Given the description of an element on the screen output the (x, y) to click on. 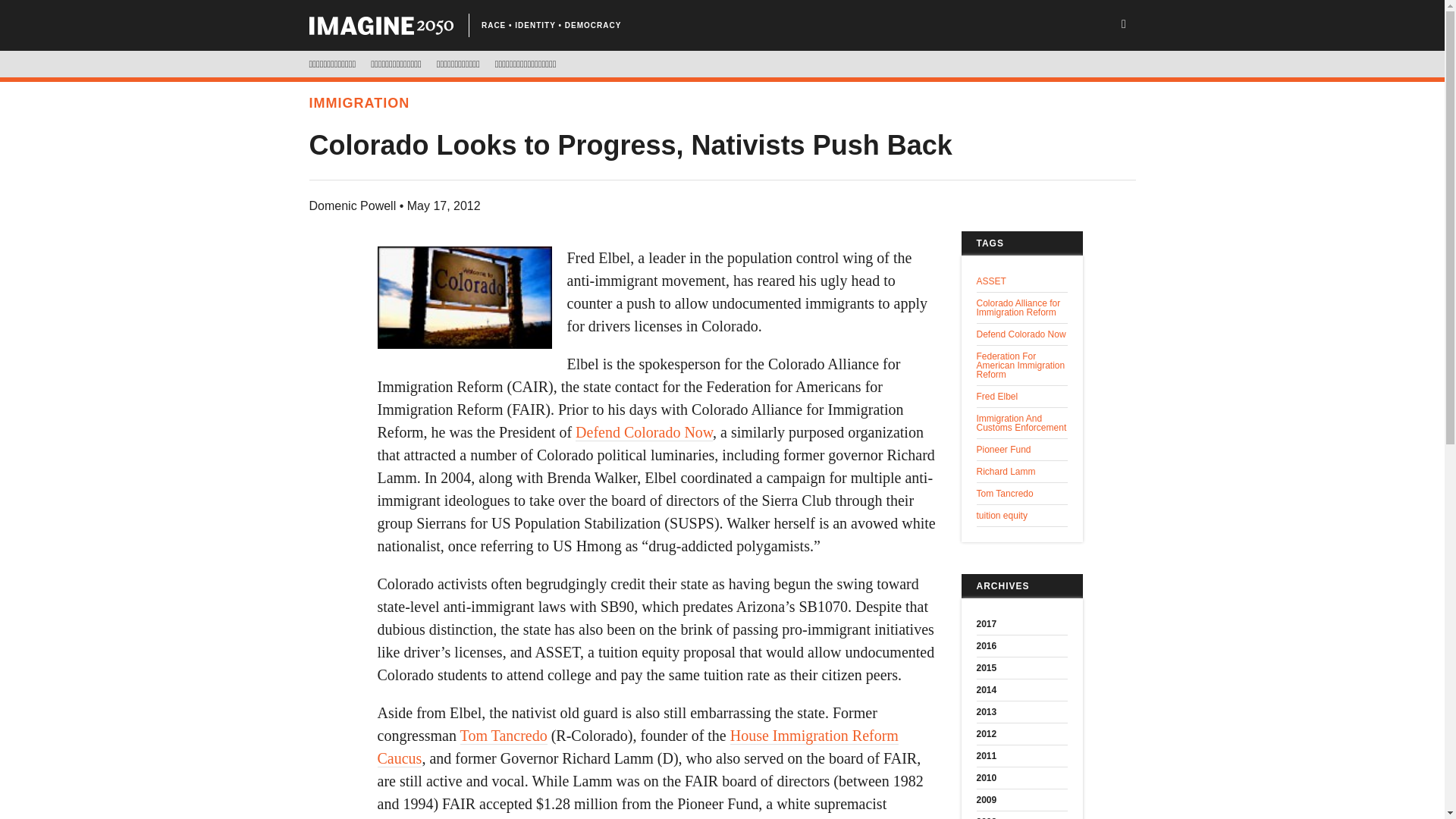
House Immigration Reform Caucus (637, 747)
Tom Tancredo (503, 735)
Search (60, 13)
Defend Colorado Now (644, 432)
CNC (380, 25)
IMMIGRATION (359, 102)
